Given the description of an element on the screen output the (x, y) to click on. 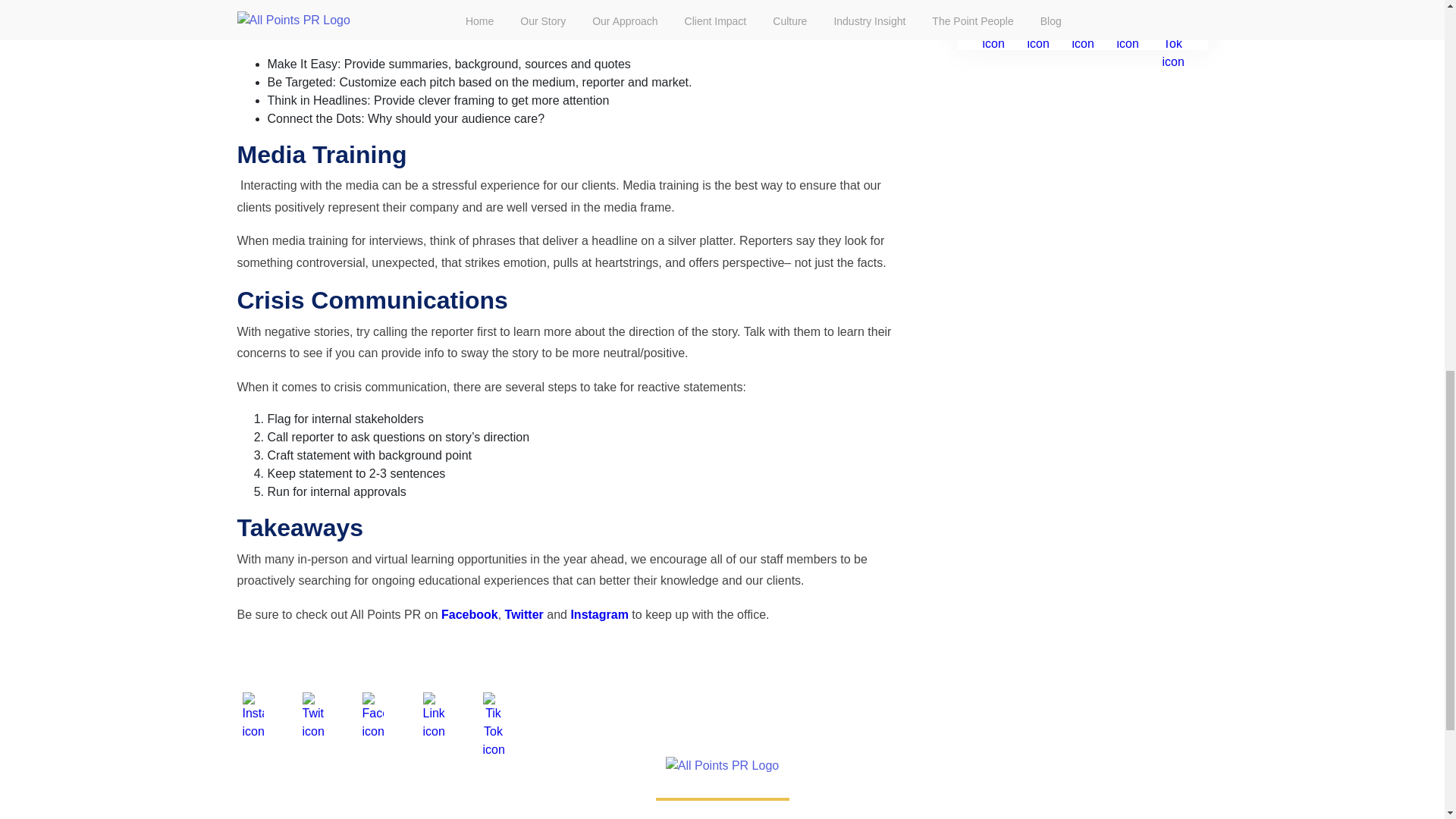
Facebook (469, 614)
Twitter (524, 614)
Instagram (598, 614)
